Given the description of an element on the screen output the (x, y) to click on. 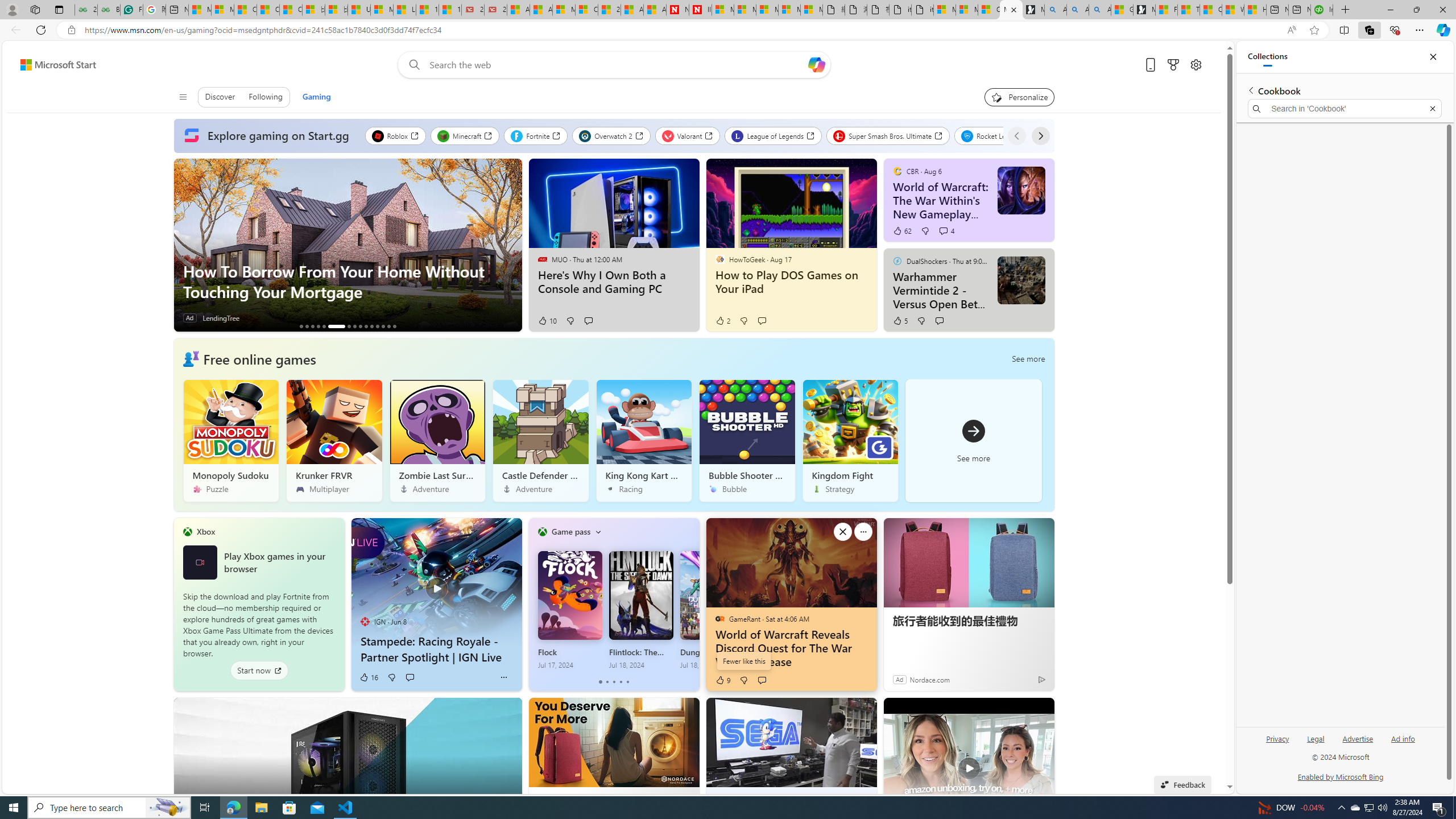
Hide this story (1037, 714)
10 Like (547, 320)
21 Movies That Outdid the Books They Were Based On (495, 9)
IGN (364, 621)
Zombie Last Survivor (437, 440)
AutomationID: tab_nativead-resinfopane-6 (336, 326)
Food and Drink - MSN (1166, 9)
Alabama high school quarterback dies - Search (1055, 9)
Flock Jul 17, 2024 (569, 610)
